Given the description of an element on the screen output the (x, y) to click on. 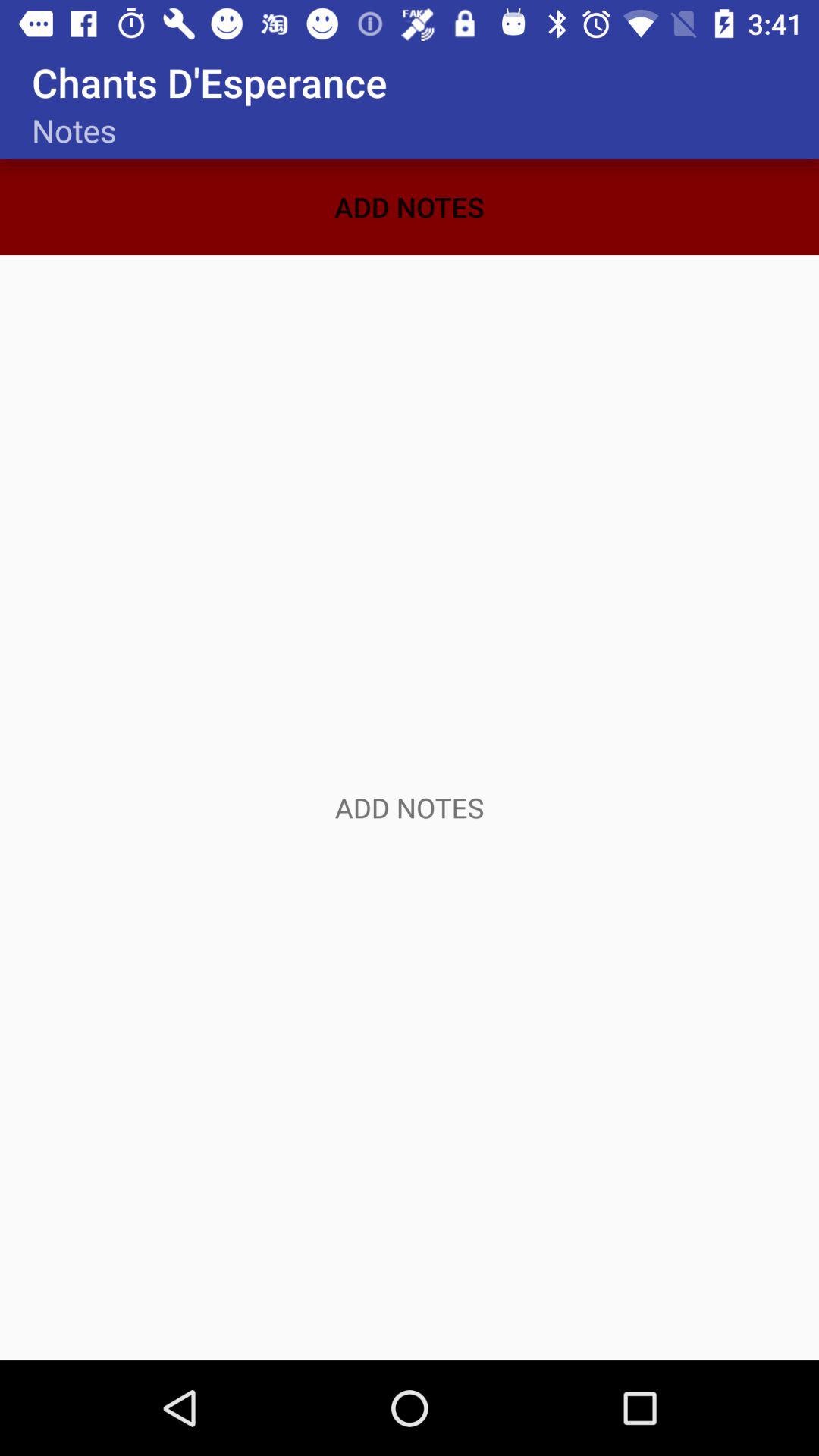
add notes (409, 807)
